Given the description of an element on the screen output the (x, y) to click on. 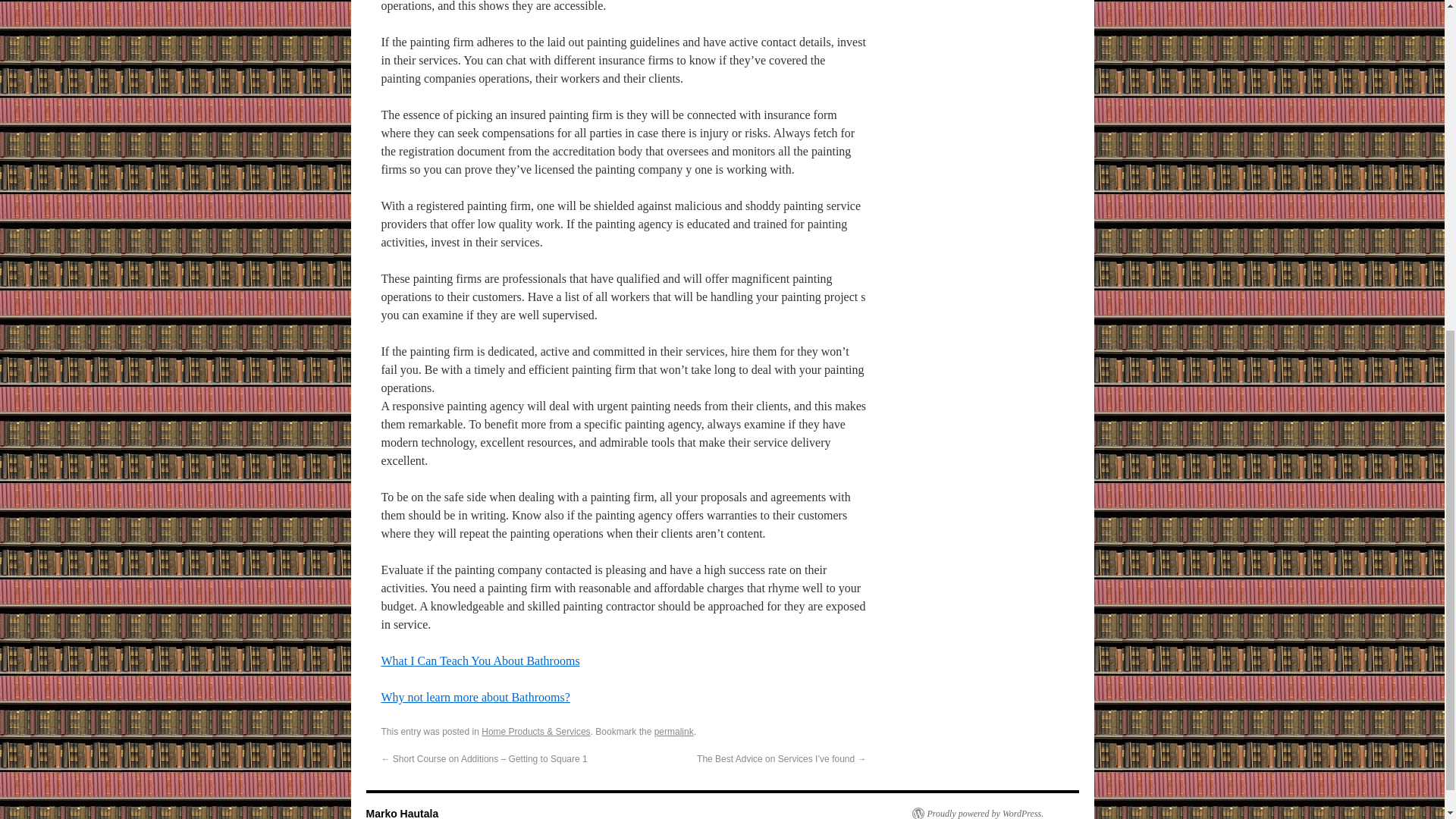
Why not learn more about Bathrooms? (474, 697)
What I Can Teach You About Bathrooms (479, 660)
permalink (673, 731)
Permalink to Doing Bathrooms The Right Way (673, 731)
